Given the description of an element on the screen output the (x, y) to click on. 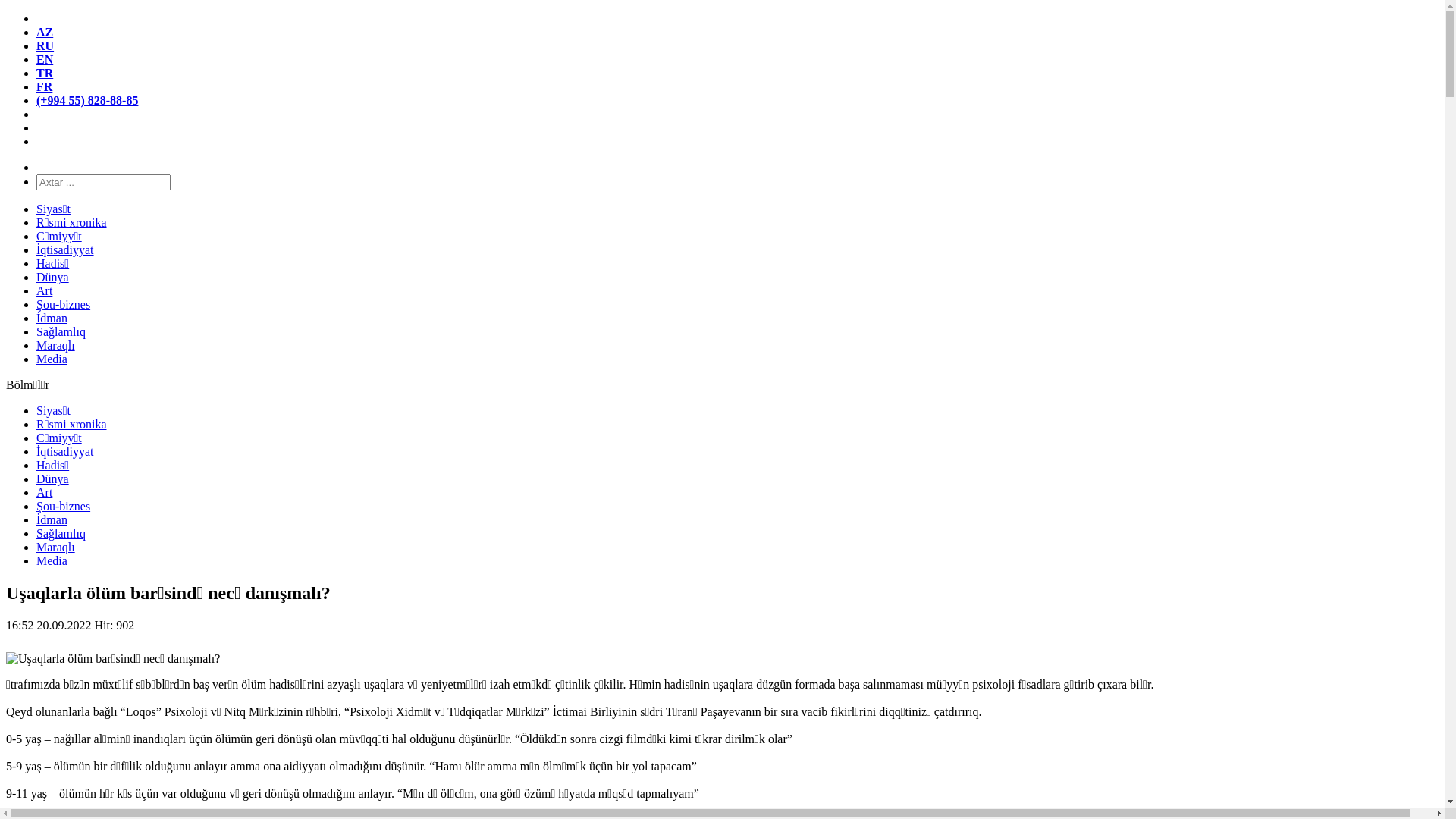
FR Element type: text (44, 86)
(+994 55) 828-88-85 Element type: text (87, 100)
RU Element type: text (44, 45)
EN Element type: text (44, 59)
Media Element type: text (51, 358)
Art Element type: text (44, 492)
Media Element type: text (51, 560)
Art Element type: text (44, 290)
AZ Element type: text (44, 31)
TR Element type: text (44, 72)
